Given the description of an element on the screen output the (x, y) to click on. 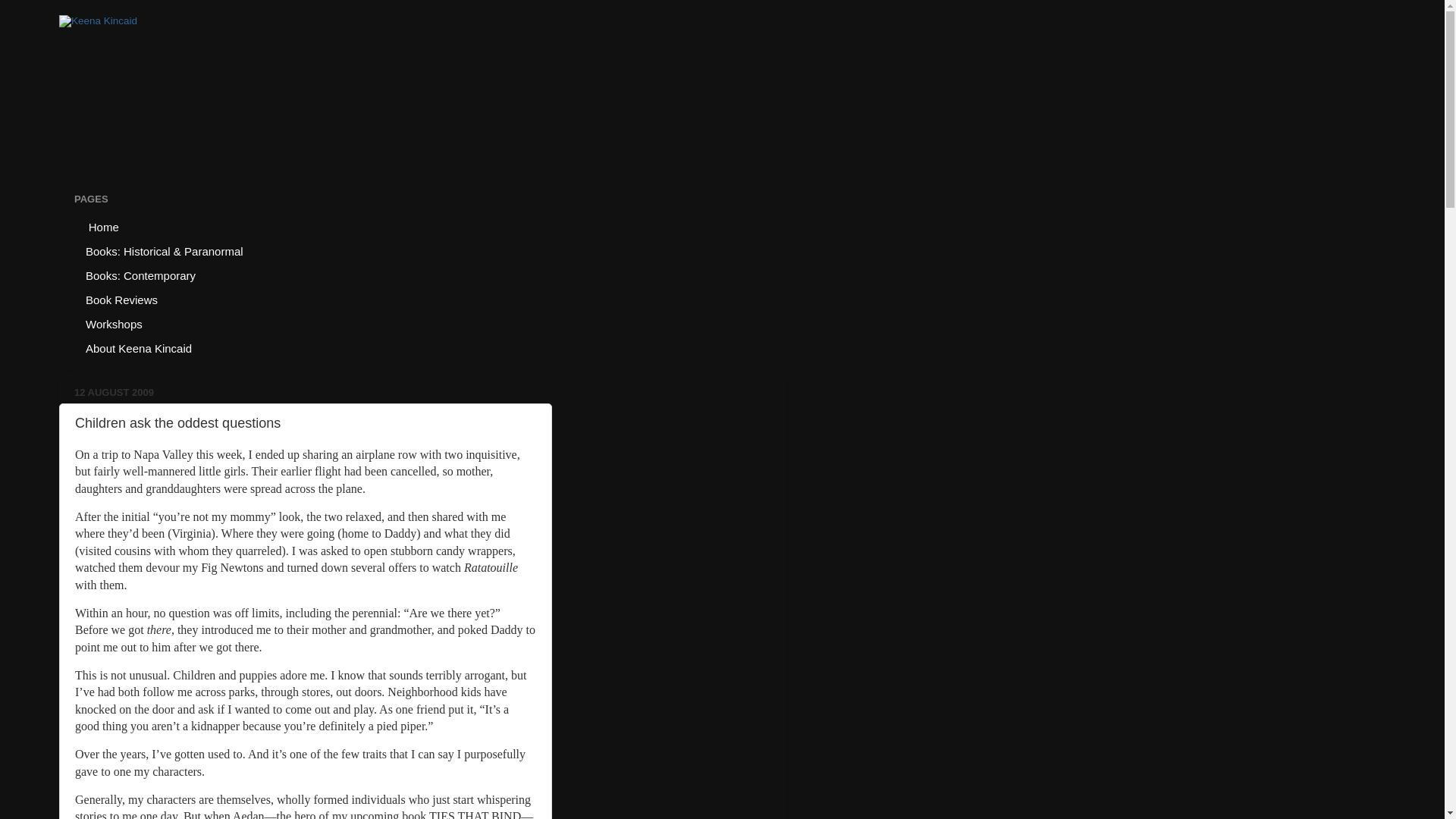
Books: Contemporary (141, 274)
Home (102, 226)
Book Reviews (122, 299)
About Keena Kincaid (138, 347)
Workshops (114, 323)
